Given the description of an element on the screen output the (x, y) to click on. 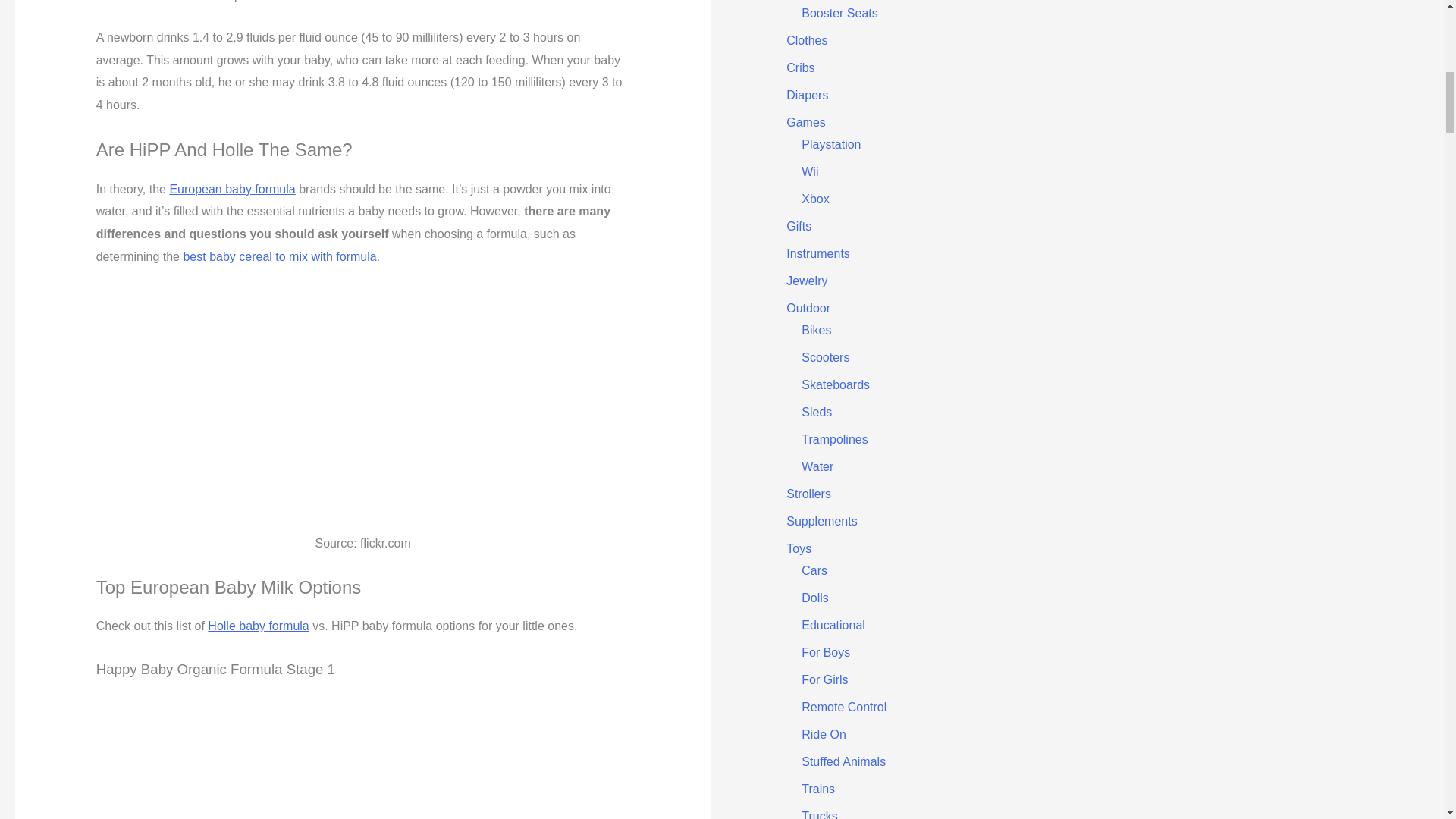
European baby formula (231, 188)
best baby cereal to mix with formula (279, 256)
Holle baby formula (258, 625)
